Given the description of an element on the screen output the (x, y) to click on. 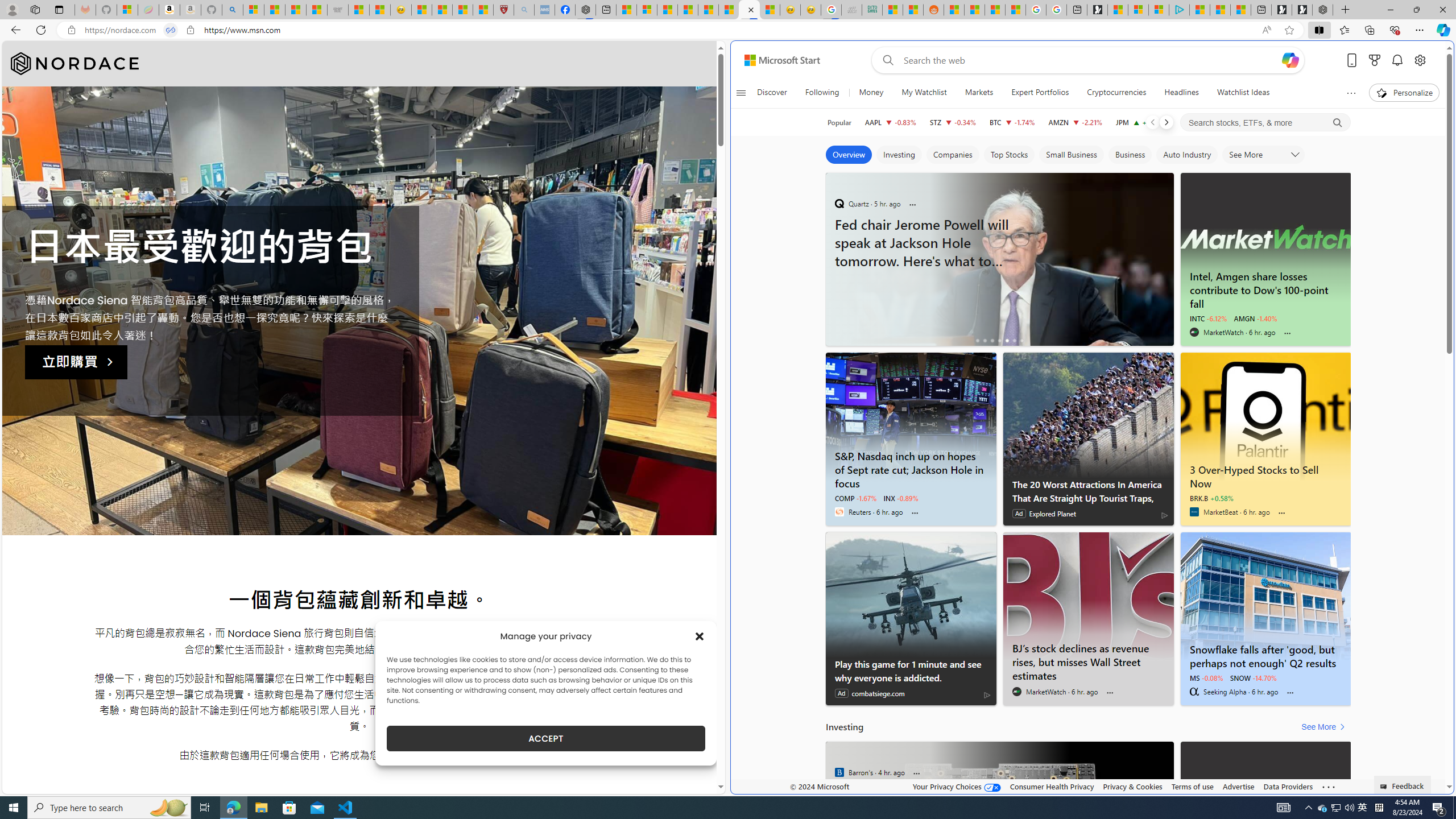
AdChoices (987, 694)
My Watchlist (924, 92)
Overview (848, 154)
SNOW -14.70% (1253, 677)
